Given the description of an element on the screen output the (x, y) to click on. 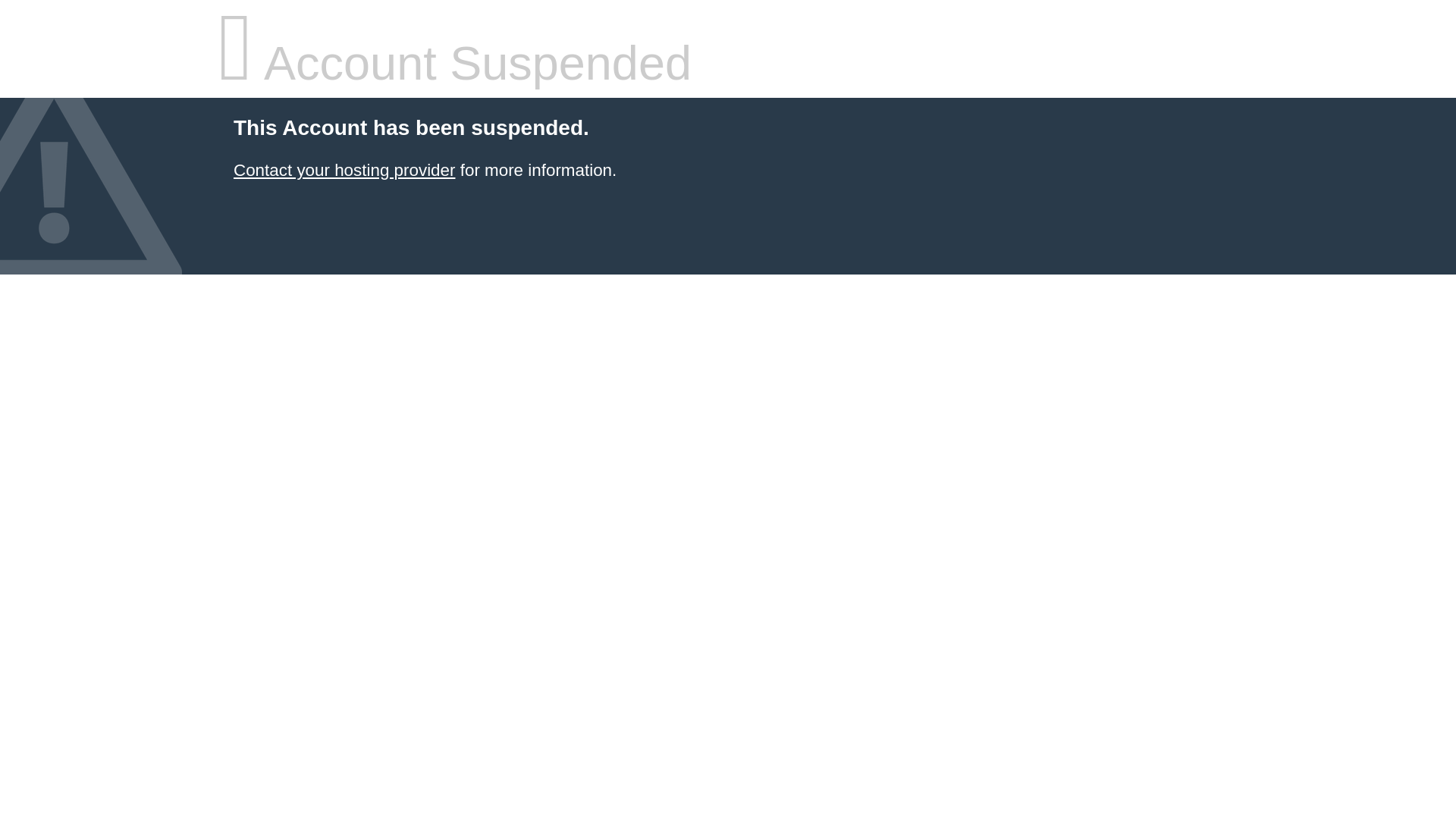
Contact your hosting provider (343, 169)
